Given the description of an element on the screen output the (x, y) to click on. 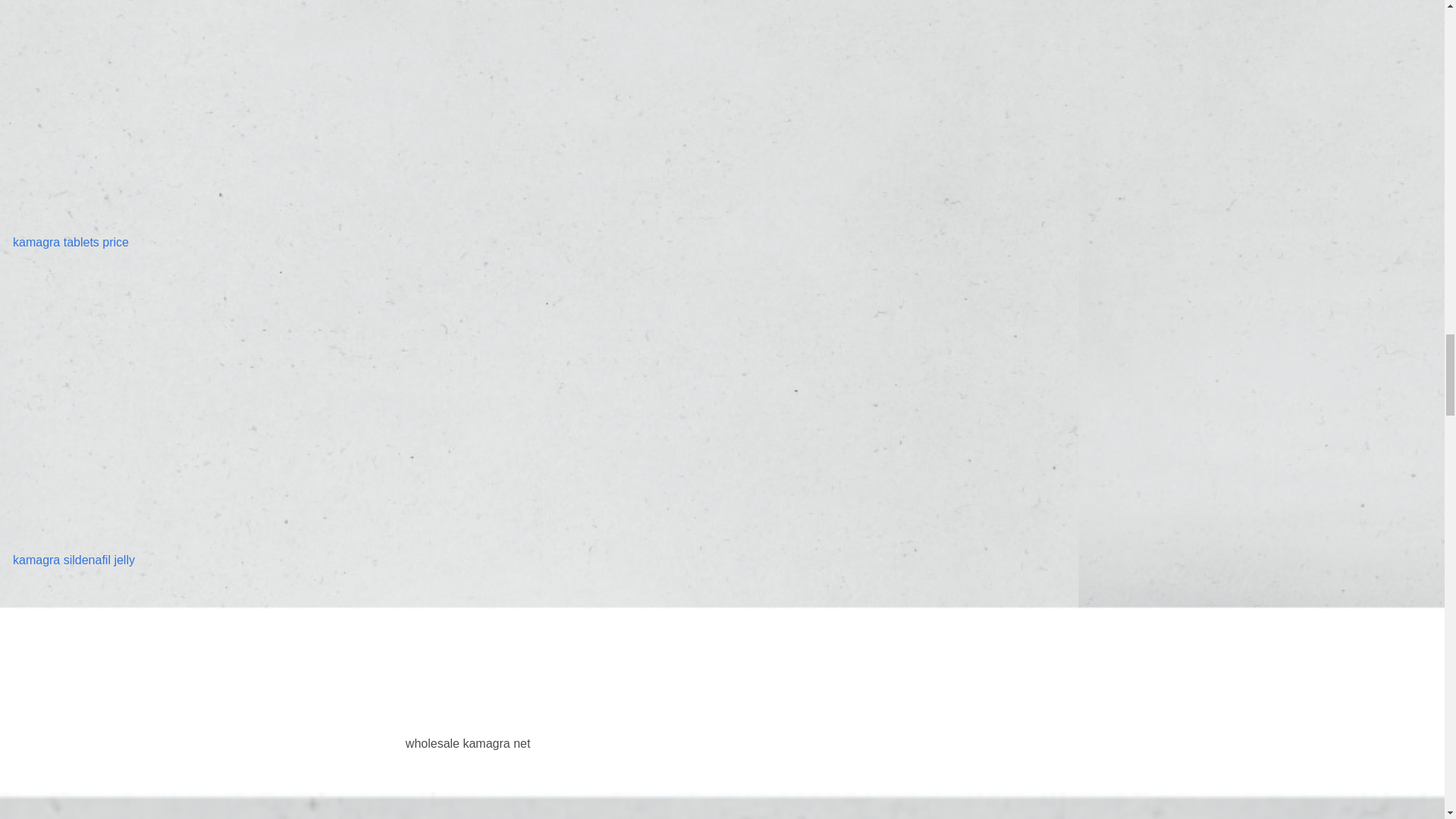
Madison (152, 406)
kamagra sildenafil jelly (74, 559)
Leaf-01 (468, 681)
kamagra tablets price (71, 241)
Tuskegee (152, 114)
